Given the description of an element on the screen output the (x, y) to click on. 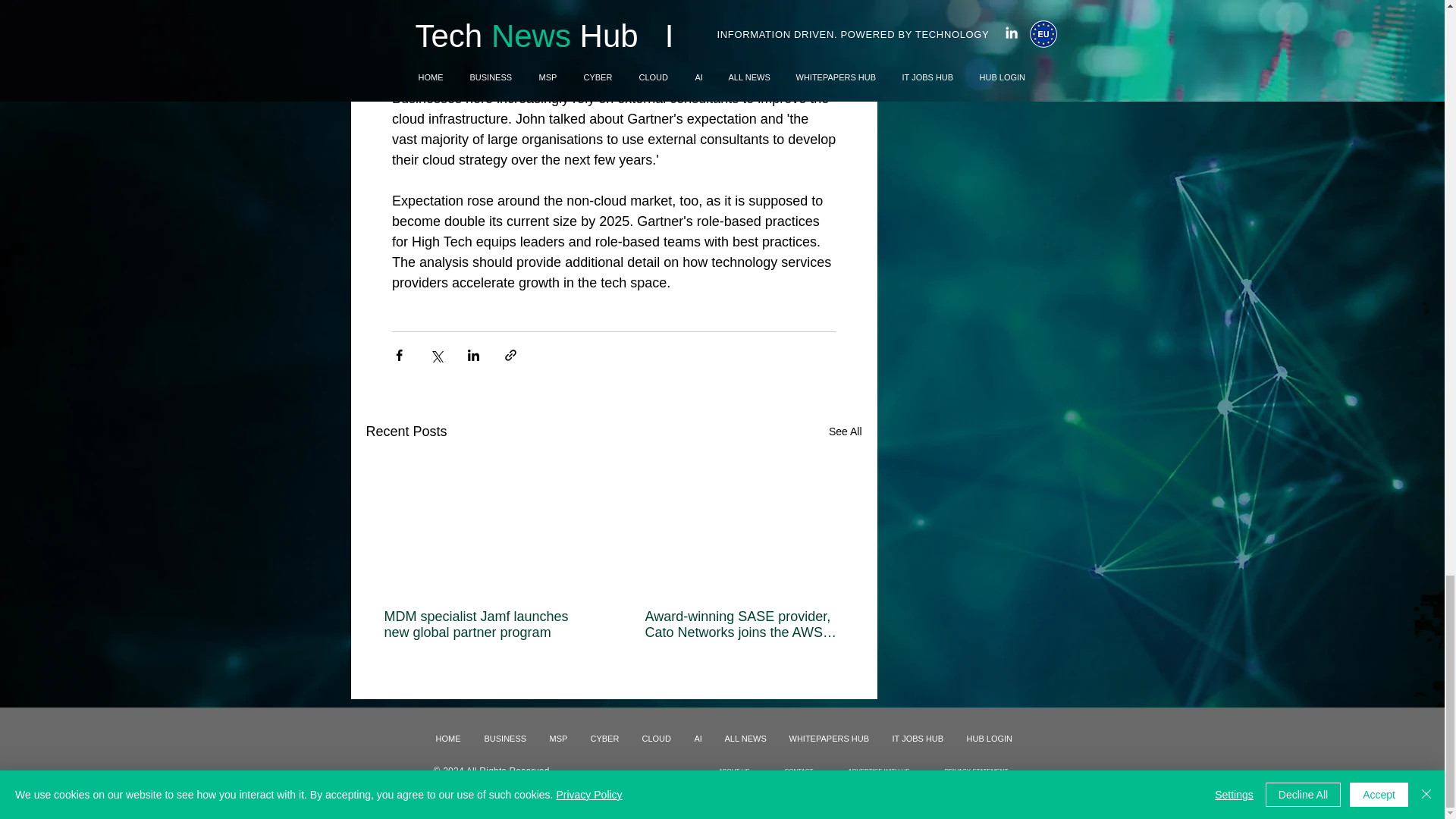
WHITEPAPERS HUB (828, 738)
See All (844, 431)
HOME (449, 738)
MDM specialist Jamf launches new global partner program (483, 624)
MSP (558, 738)
ALL NEWS (745, 738)
AI (697, 738)
BUSINESS (505, 738)
CYBER (604, 738)
